Given the description of an element on the screen output the (x, y) to click on. 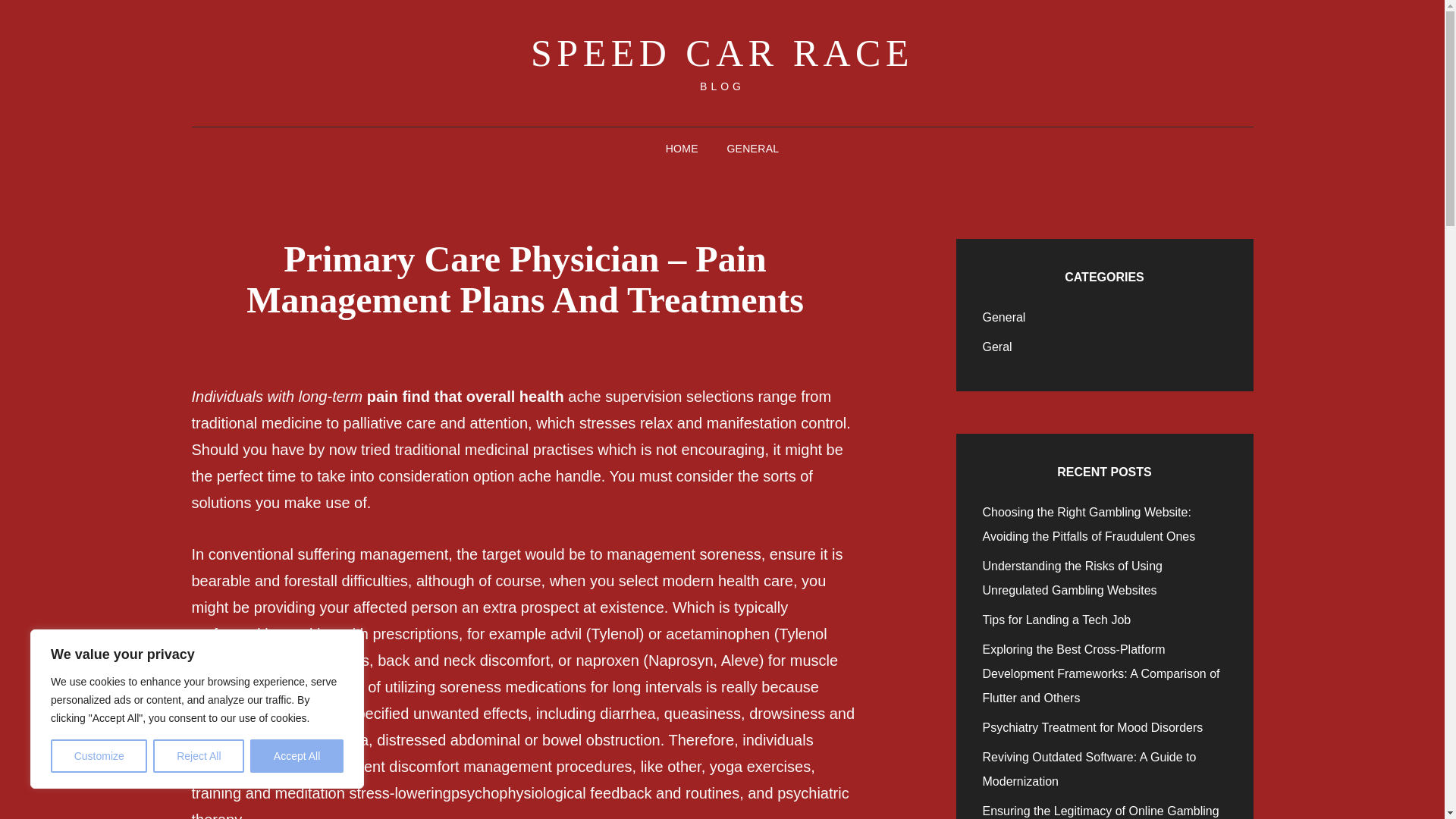
Geral (996, 346)
Accept All (296, 756)
Reviving Outdated Software: A Guide to Modernization (1089, 769)
HOME (681, 148)
GENERAL (752, 148)
General (1004, 317)
Customize (98, 756)
Tips for Landing a Tech Job (1056, 619)
Reject All (198, 756)
Psychiatry Treatment for Mood Disorders (1093, 727)
